Given the description of an element on the screen output the (x, y) to click on. 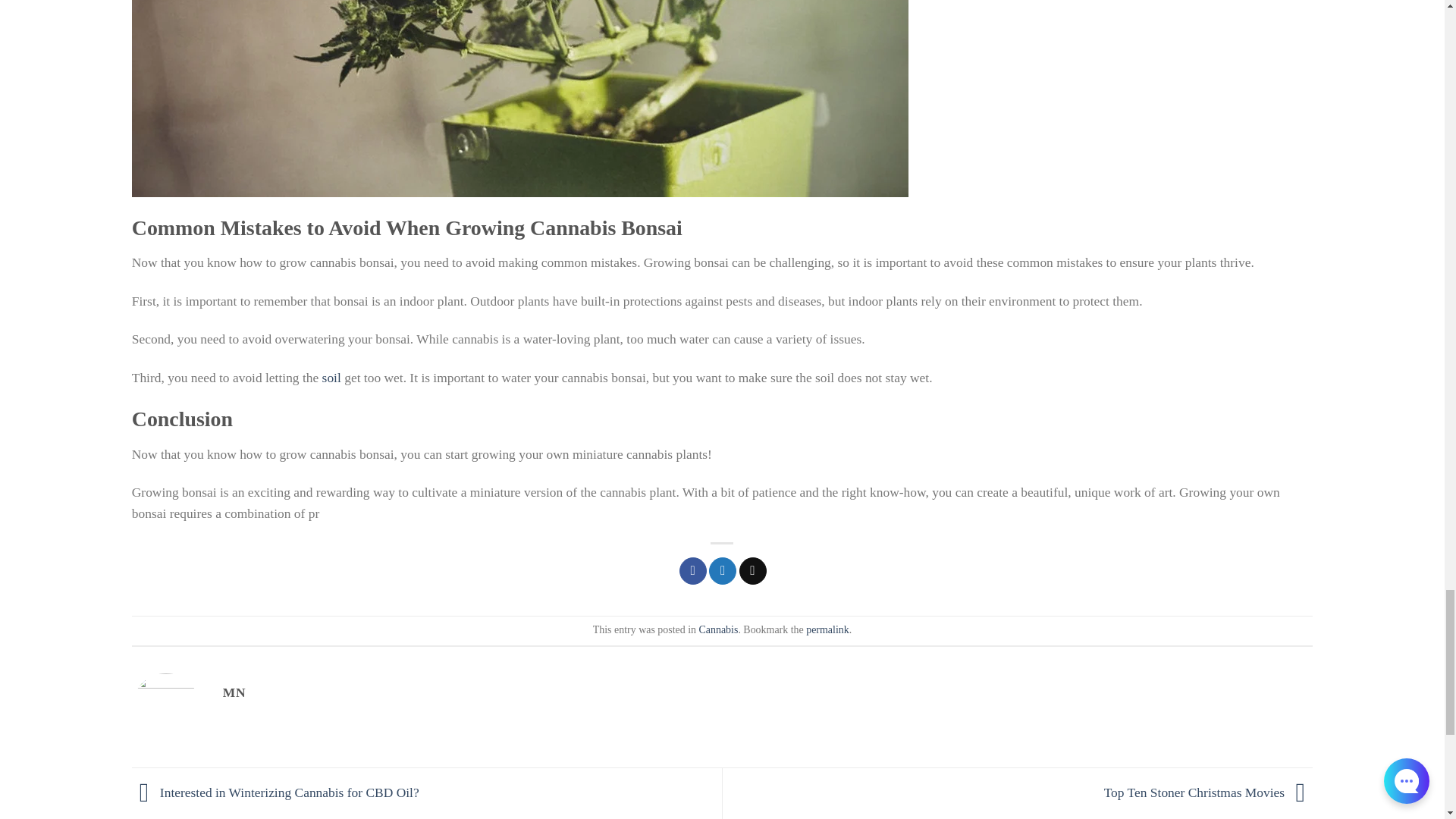
Permalink to The Art of Cannabis Bonsai (827, 629)
